Given the description of an element on the screen output the (x, y) to click on. 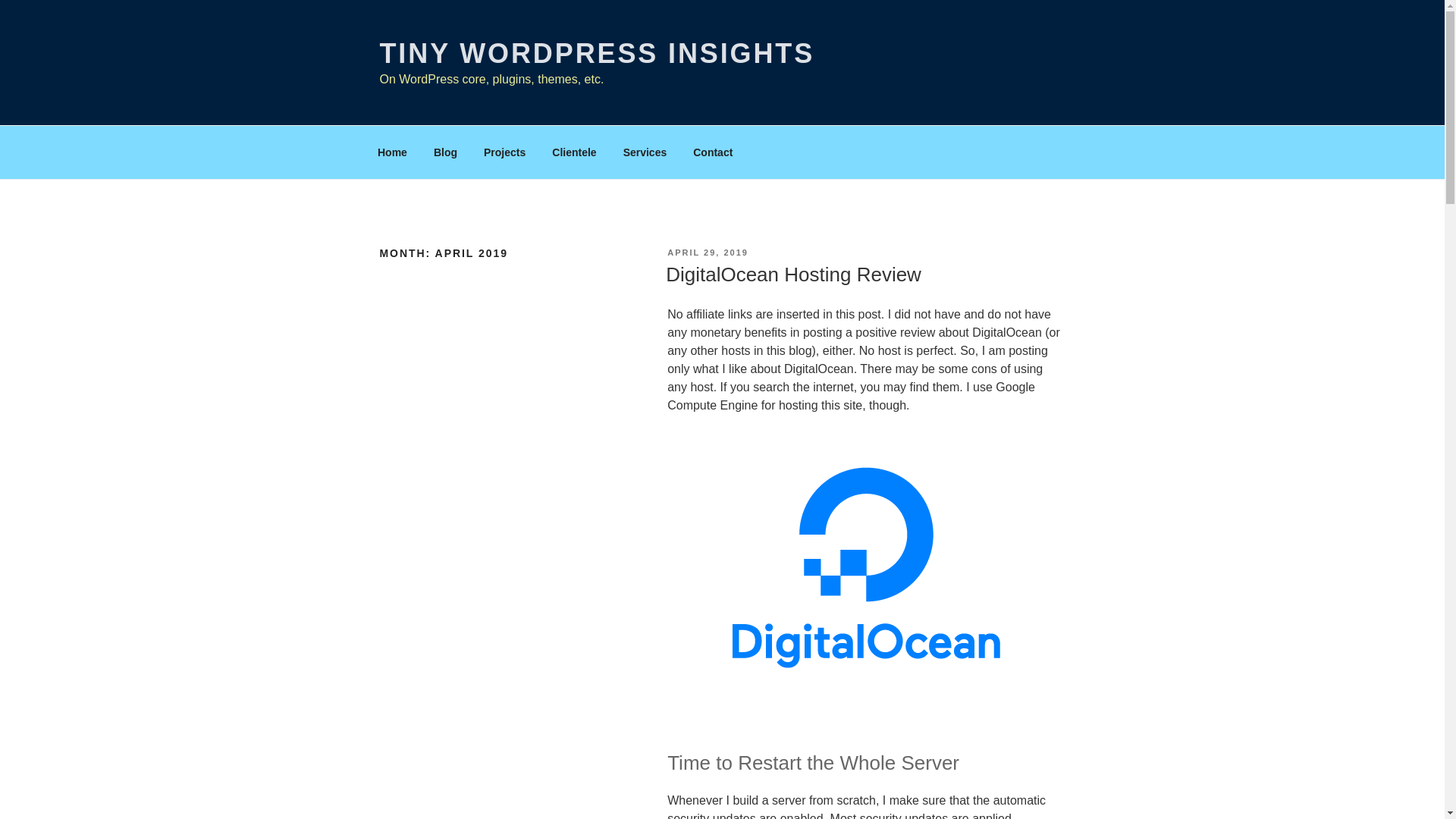
Projects (504, 151)
APRIL 29, 2019 (707, 252)
Services (644, 151)
DigitalOcean Hosting Review (793, 273)
Clientele (574, 151)
TINY WORDPRESS INSIGHTS (595, 52)
Contact (712, 151)
Home (392, 151)
Blog (445, 151)
